Given the description of an element on the screen output the (x, y) to click on. 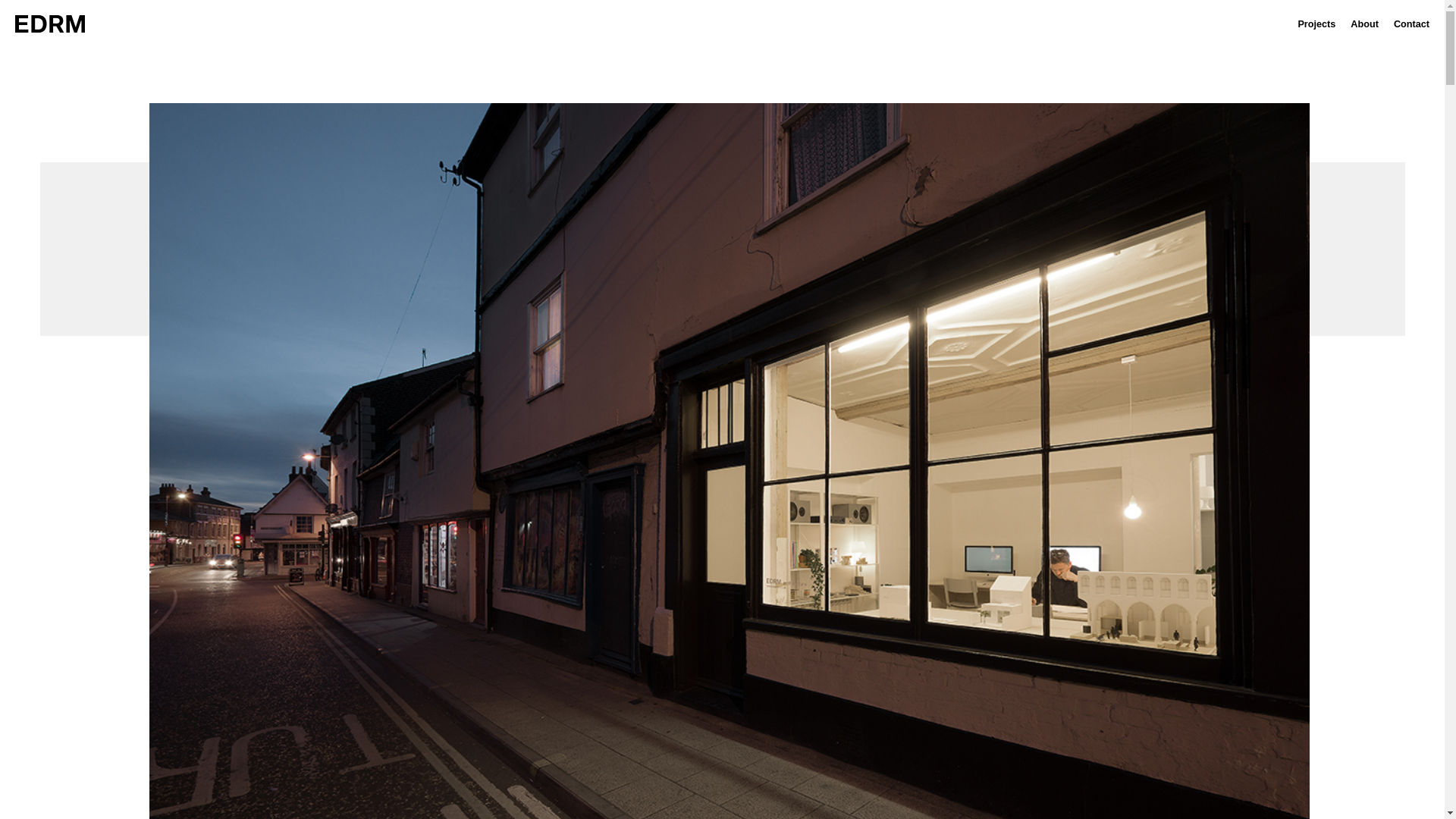
Contact (1411, 23)
About (1364, 23)
Projects (1316, 23)
